Given the description of an element on the screen output the (x, y) to click on. 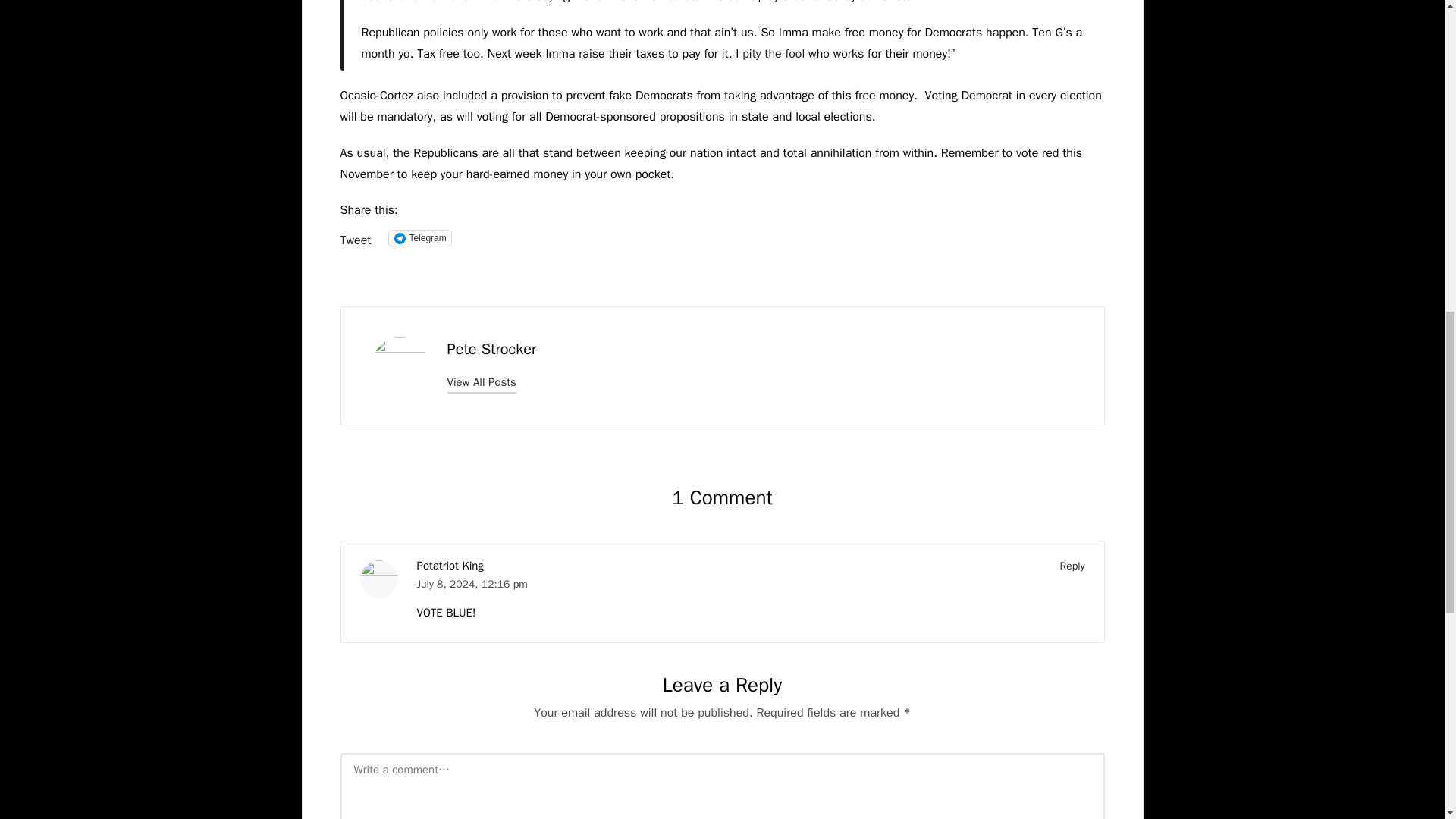
pity the fool (773, 53)
Pete Strocker (491, 348)
12:16 pm (504, 584)
Click to share on Telegram (418, 237)
Telegram (418, 237)
Reply (1071, 565)
Tweet (355, 237)
Potatriot King (449, 565)
View All Posts (481, 382)
